Given the description of an element on the screen output the (x, y) to click on. 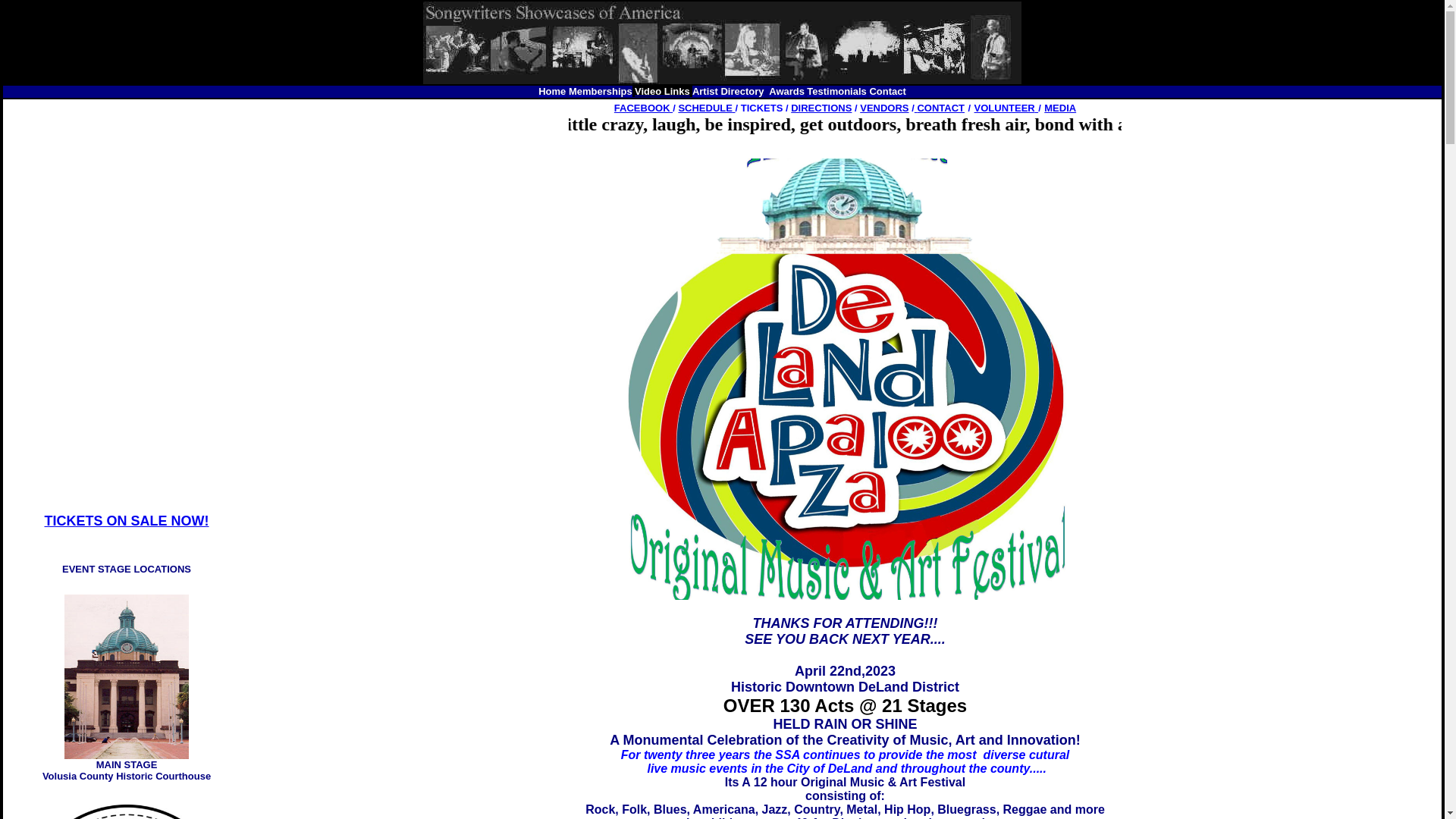
VENDORS Element type: text (883, 107)
MEDIA Element type: text (1060, 106)
Awards Element type: text (786, 91)
TICKETS ON SALE NOW! Element type: text (125, 520)
Home Element type: text (551, 90)
SCHEDULE Element type: text (704, 107)
VOLUNTEER Element type: text (1006, 106)
DIRECTIONS Element type: text (820, 107)
FACEBOOK Element type: text (643, 106)
Contact Element type: text (887, 91)
Memberships Element type: text (600, 90)
CONTACT Element type: text (940, 106)
Testimonials Element type: text (836, 91)
Artist Directory Element type: text (728, 90)
  Element type: text (733, 106)
Video Links Element type: text (662, 91)
